Given the description of an element on the screen output the (x, y) to click on. 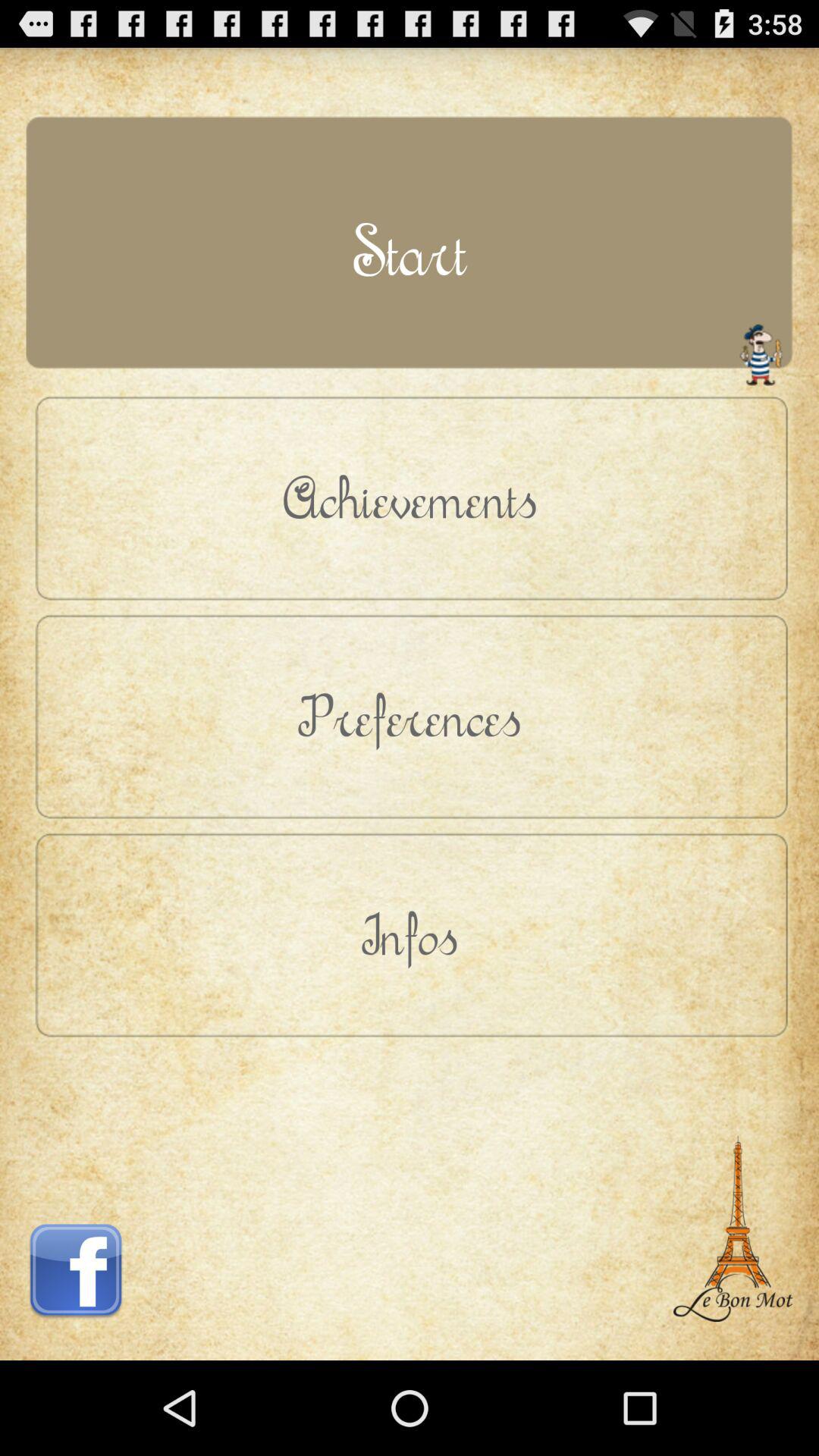
swipe until the infos item (409, 934)
